Given the description of an element on the screen output the (x, y) to click on. 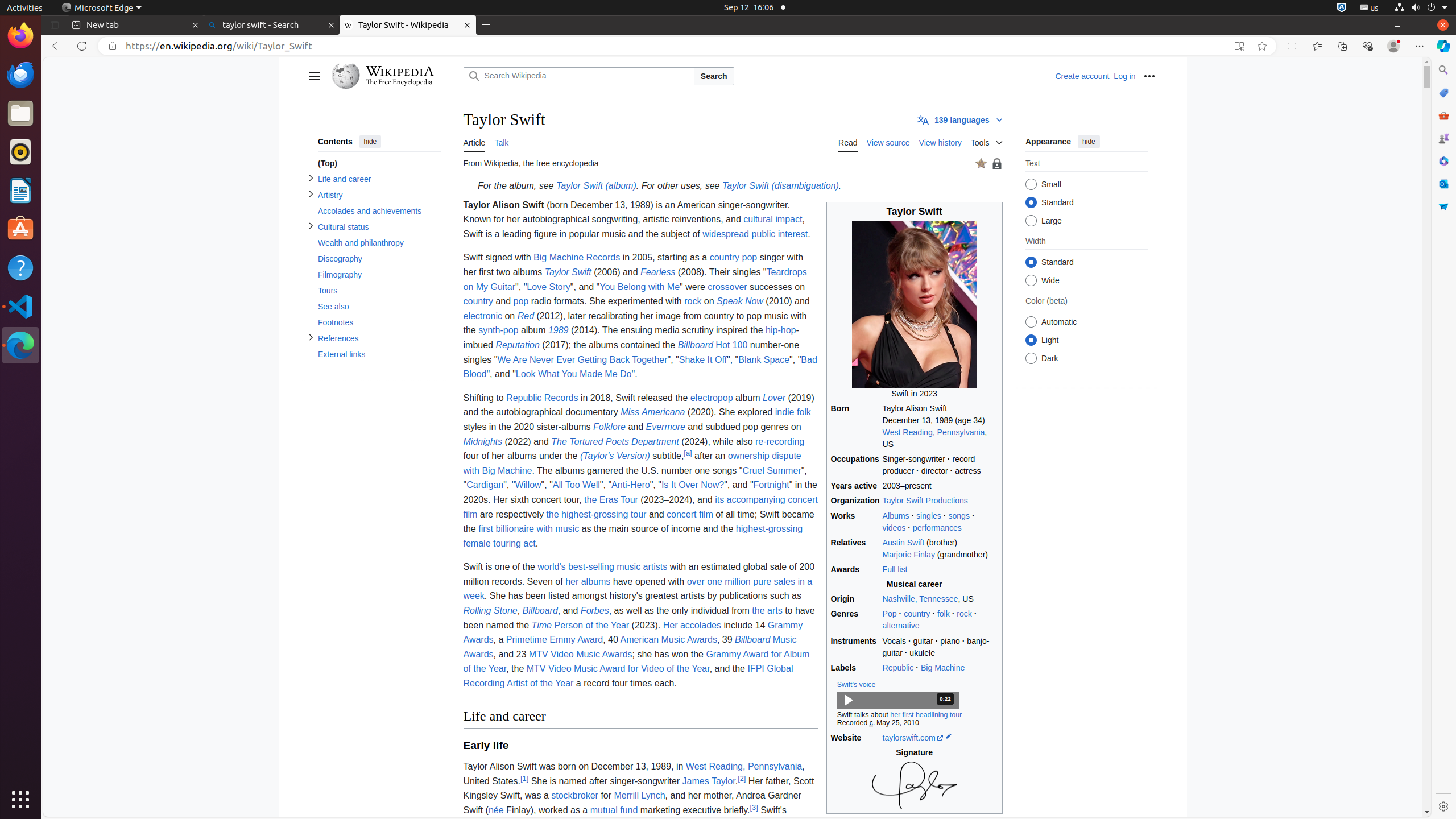
Customize Element type: push-button (1443, 243)
Grammy Award for Album of the Year Element type: link (635, 660)
crossover Element type: link (727, 286)
Blank Space Element type: link (763, 359)
Copilot (Ctrl+Shift+.) Element type: push-button (1443, 45)
